Given the description of an element on the screen output the (x, y) to click on. 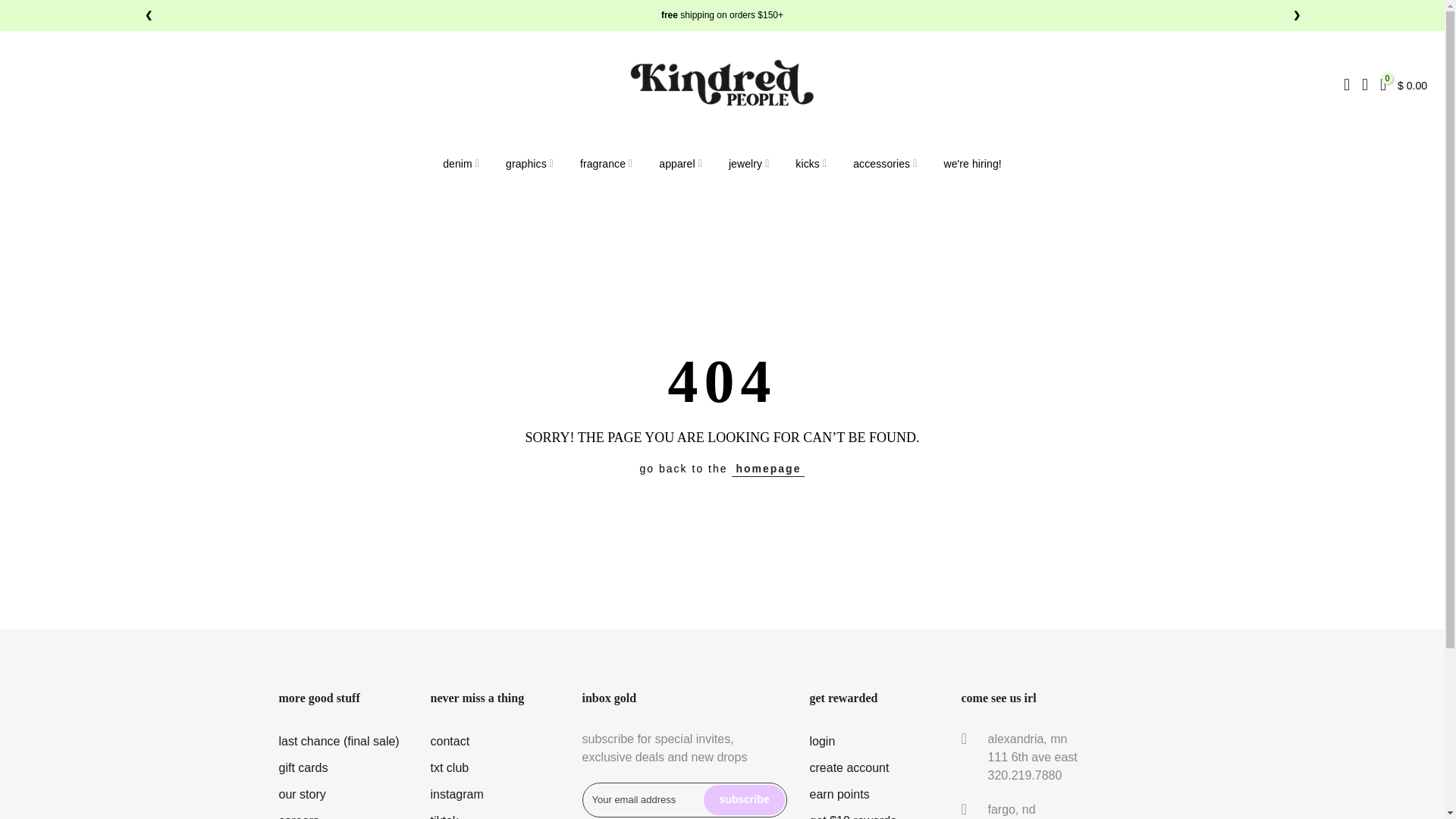
txt club (449, 767)
kicks (811, 163)
jewelry (747, 163)
our story (302, 793)
subscribe (743, 799)
login (822, 740)
denim (461, 163)
we're hiring! (972, 163)
apparel (681, 163)
create account (849, 767)
